Given the description of an element on the screen output the (x, y) to click on. 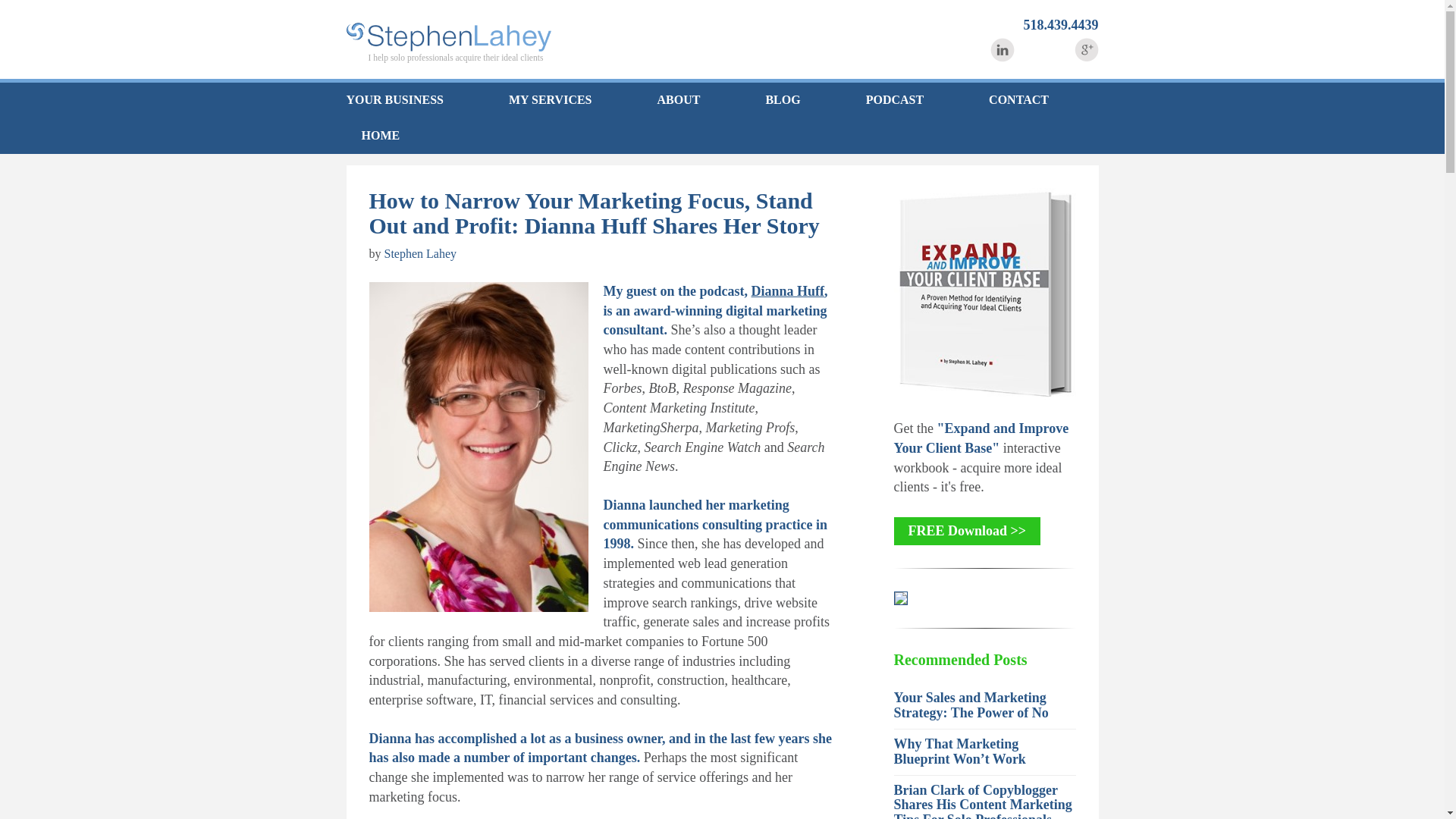
HOME (372, 135)
ABOUT (679, 99)
PODCAST (894, 99)
Dianna Huff (788, 290)
BLOG (782, 99)
Smart Solo Business (448, 36)
MY SERVICES (550, 99)
YOUR BUSINESS (410, 99)
CONTACT (1019, 99)
Stephen Lahey (420, 253)
